Given the description of an element on the screen output the (x, y) to click on. 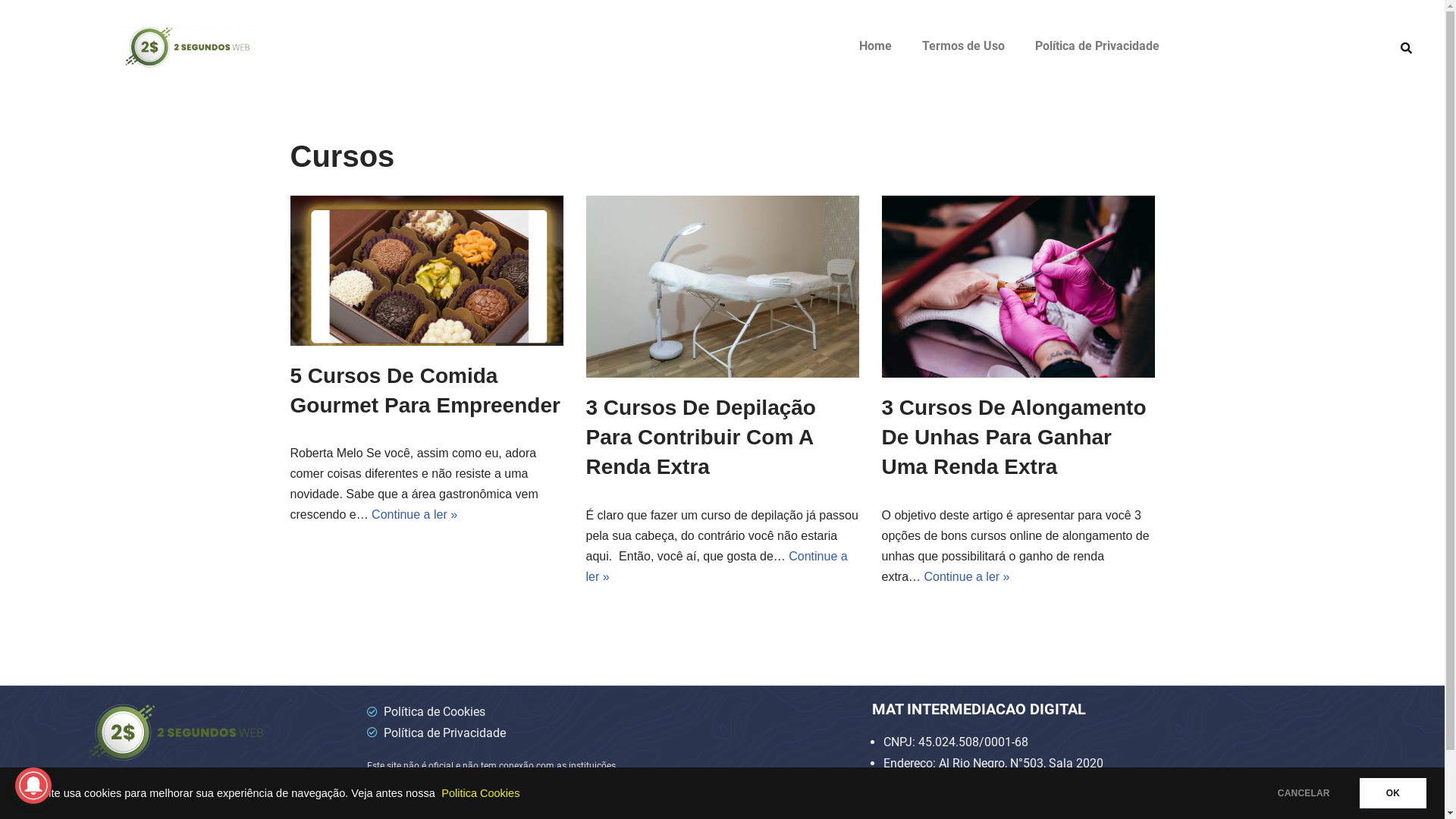
CANCELAR Element type: text (1303, 793)
Politica Cookies Element type: text (480, 793)
Home Element type: text (875, 45)
3 Cursos De Alongamento De Unhas Para Ganhar Uma Renda Extra Element type: text (1013, 436)
5 Cursos De Comida Gourmet Para Empreender Element type: text (424, 390)
OK Element type: text (1392, 793)
cropped-2-segundos-logo-02.png Element type: hover (186, 46)
5 Cursos De Comida Gourmet Para Empreender Element type: hover (425, 270)
3 Cursos De Alongamento De Unhas Para Ganhar Uma Renda Extra Element type: hover (1017, 286)
Termos de Uso Element type: text (962, 45)
